Given the description of an element on the screen output the (x, y) to click on. 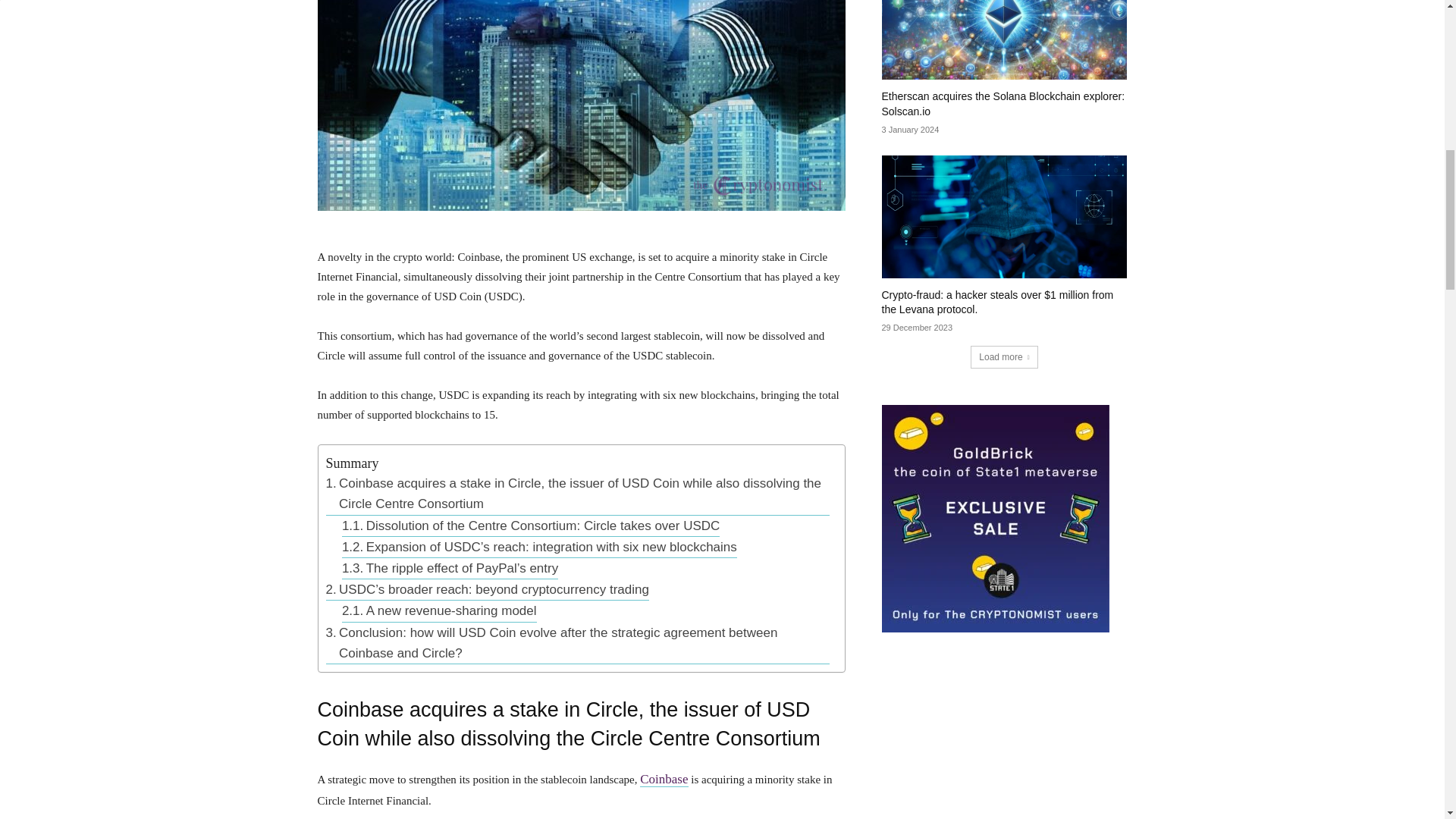
A new revenue-sharing model (439, 610)
Dissolution of the Centre Consortium: Circle takes over USDC (531, 526)
coinbase circle usd coin (580, 105)
